Given the description of an element on the screen output the (x, y) to click on. 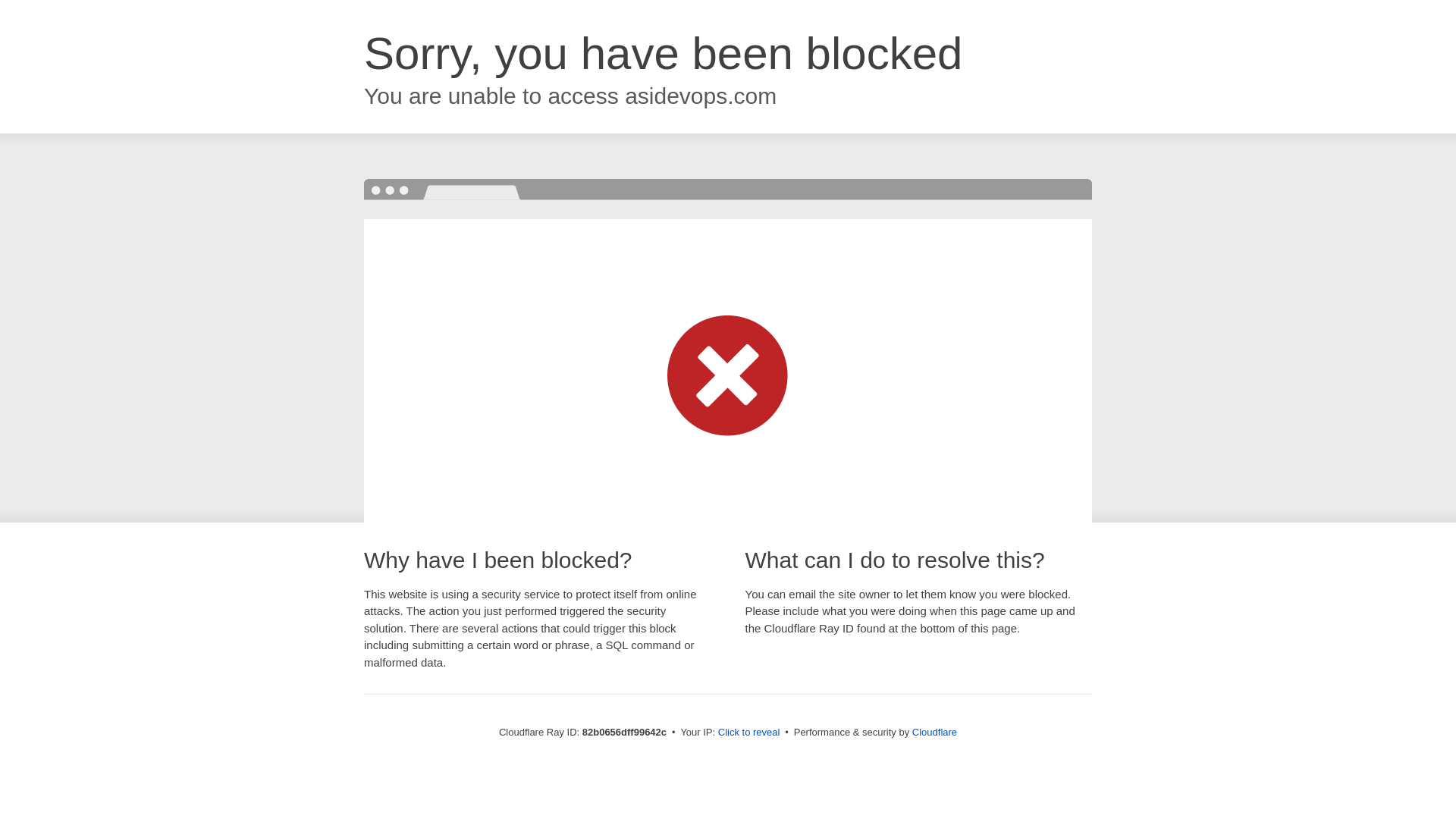
Cloudflare Element type: text (934, 731)
Click to reveal Element type: text (749, 732)
